Given the description of an element on the screen output the (x, y) to click on. 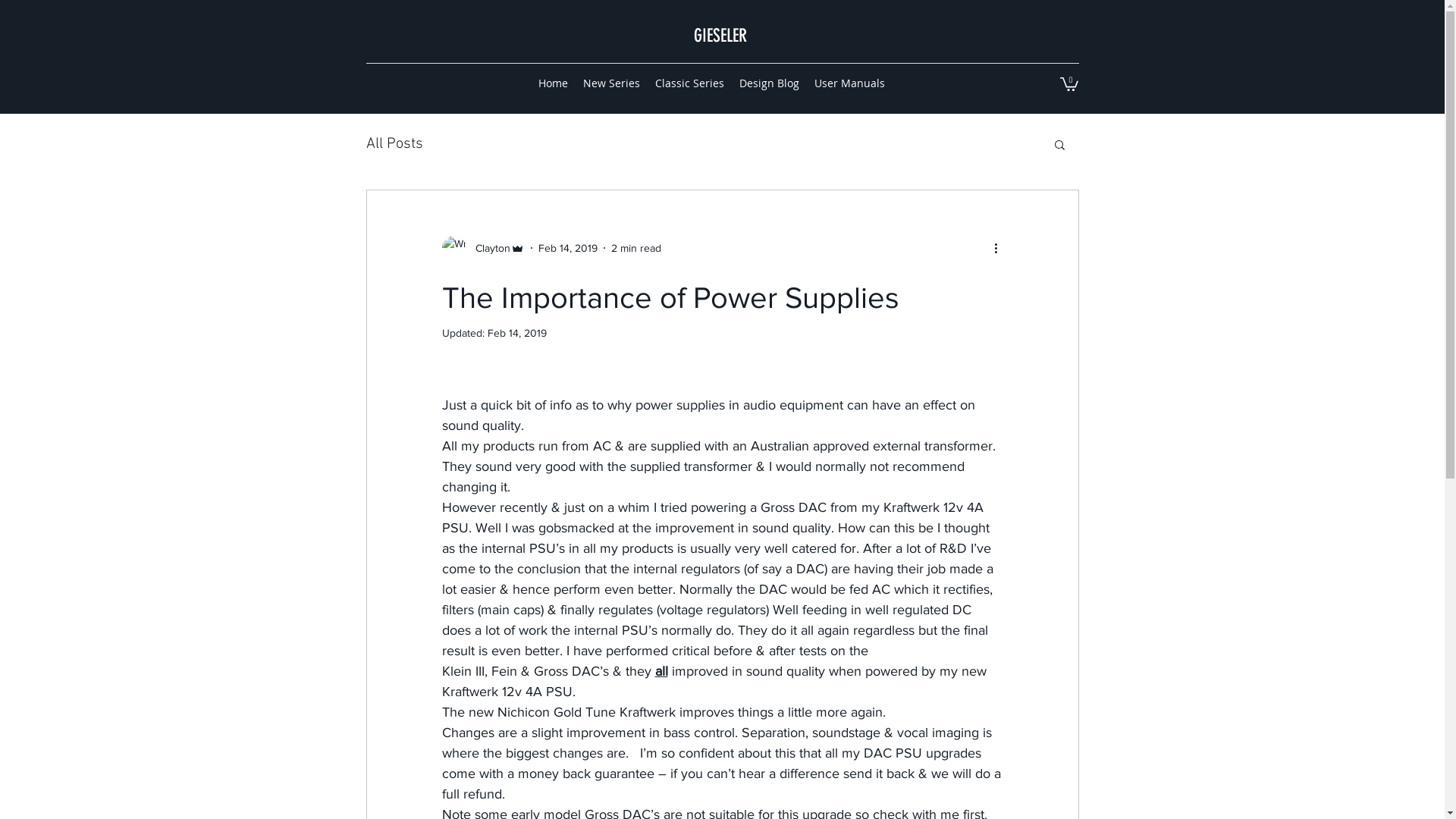
All Posts Element type: text (393, 143)
Design Blog Element type: text (768, 83)
User Manuals Element type: text (849, 83)
Classic Series Element type: text (689, 83)
0 Element type: text (1069, 83)
GIESELER Element type: text (719, 35)
New Series Element type: text (611, 83)
Home Element type: text (552, 83)
